Given the description of an element on the screen output the (x, y) to click on. 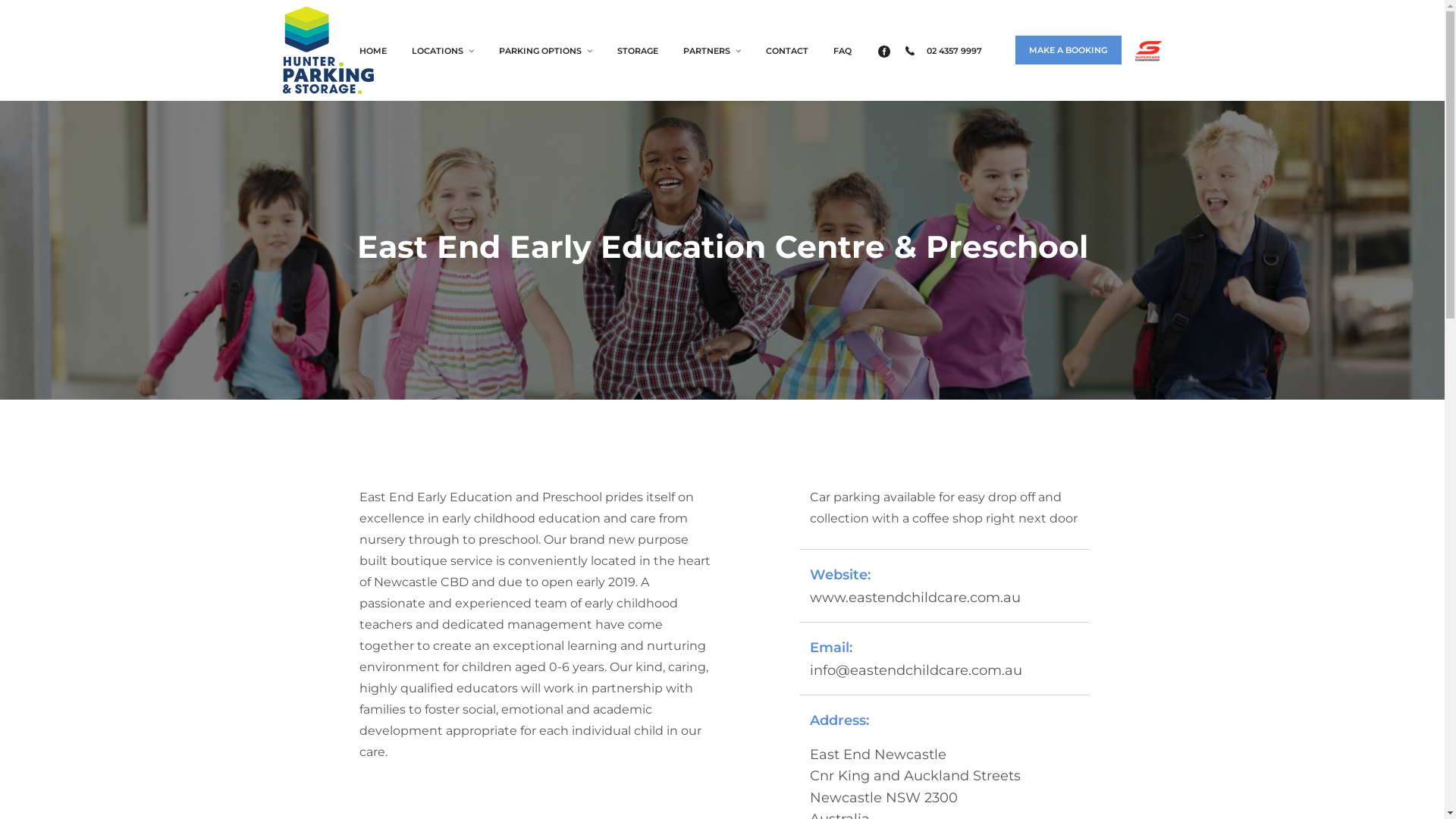
PARTNERS Element type: text (711, 50)
info@eastendchildcare.com.au Element type: text (915, 670)
www.eastendchildcare.com.au Element type: text (914, 597)
HOME Element type: text (372, 50)
LOCATIONS Element type: text (442, 50)
CONTACT Element type: text (786, 50)
PARKING OPTIONS Element type: text (544, 50)
MAKE A BOOKING Element type: text (1067, 53)
STORAGE Element type: text (636, 50)
FAQ Element type: text (842, 50)
02 4357 9997 Element type: text (941, 50)
